Given the description of an element on the screen output the (x, y) to click on. 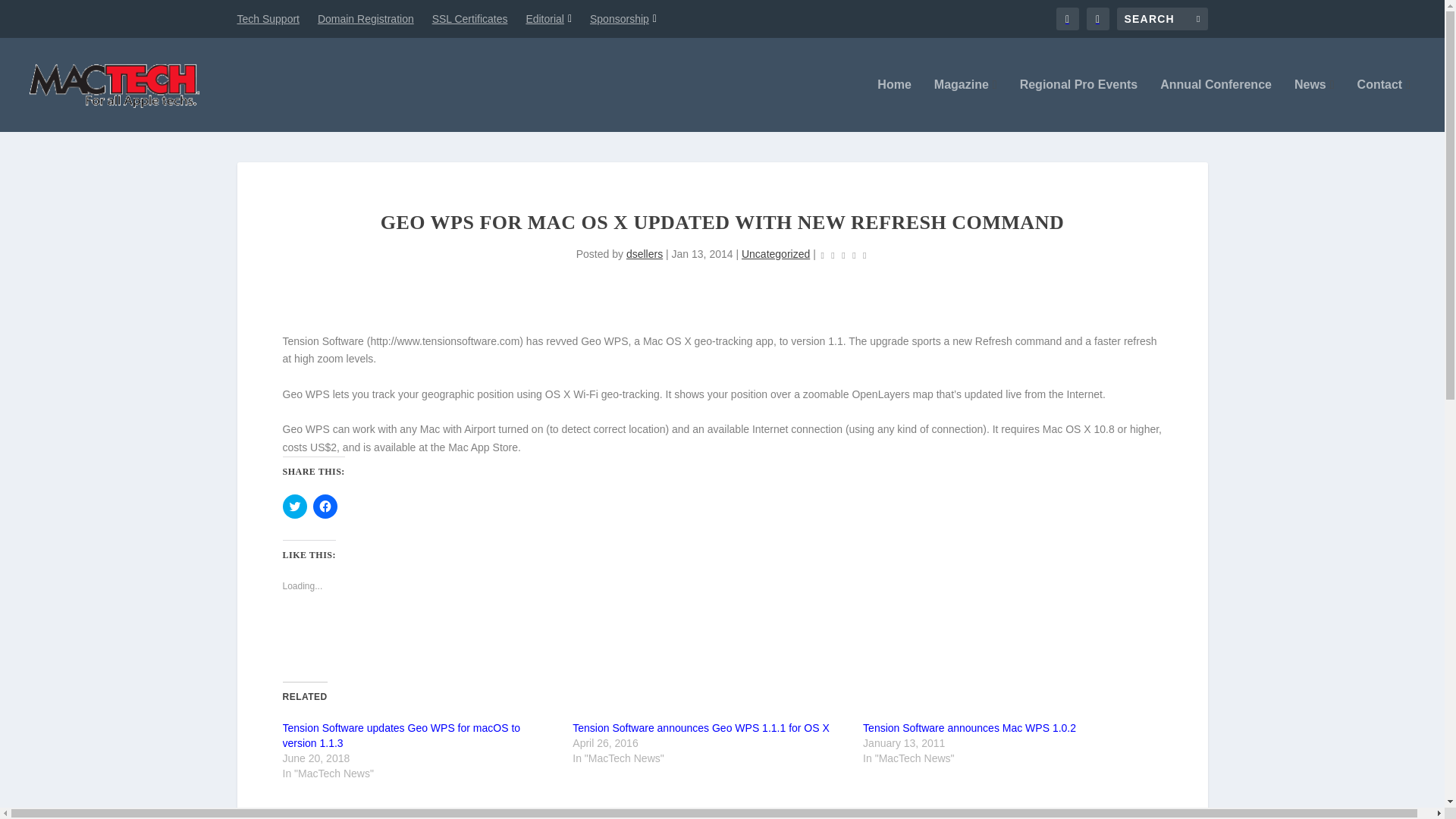
Click to share on Facebook (324, 506)
Contact (1383, 104)
Posts by dsellers (644, 254)
Tech Support (267, 18)
Domain Registration (365, 18)
Regional Pro Events (1079, 104)
Magazine (965, 104)
SSL Certificates (470, 18)
Like or Reblog (721, 639)
Annual Conference (1215, 104)
Tension Software announces Geo WPS 1.1.1 for OS X (700, 727)
Rating: 0.00 (843, 254)
Search for: (1161, 18)
Click to share on Twitter (293, 506)
Editorial (548, 18)
